Given the description of an element on the screen output the (x, y) to click on. 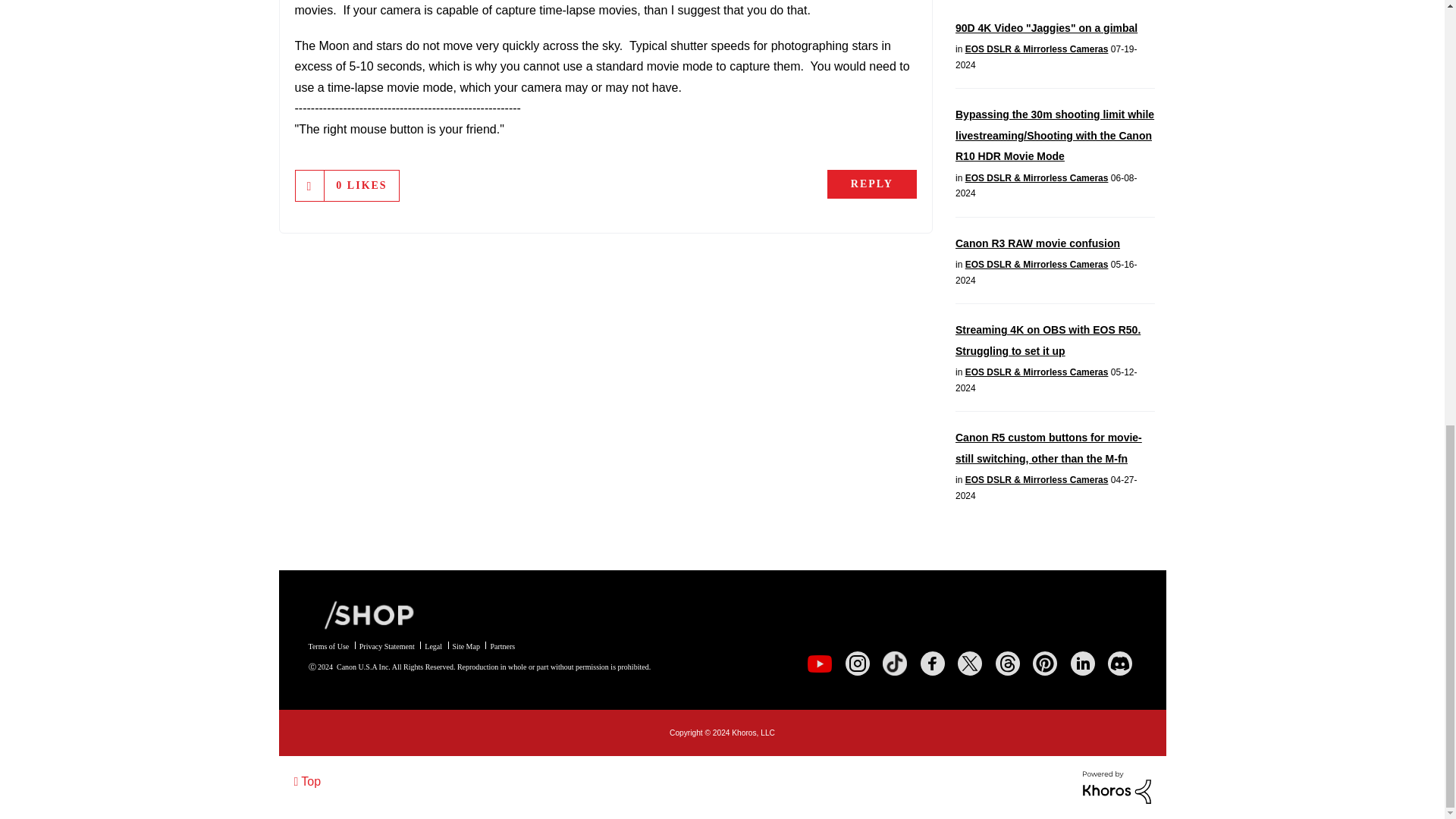
Top (307, 780)
Top (307, 780)
